Given the description of an element on the screen output the (x, y) to click on. 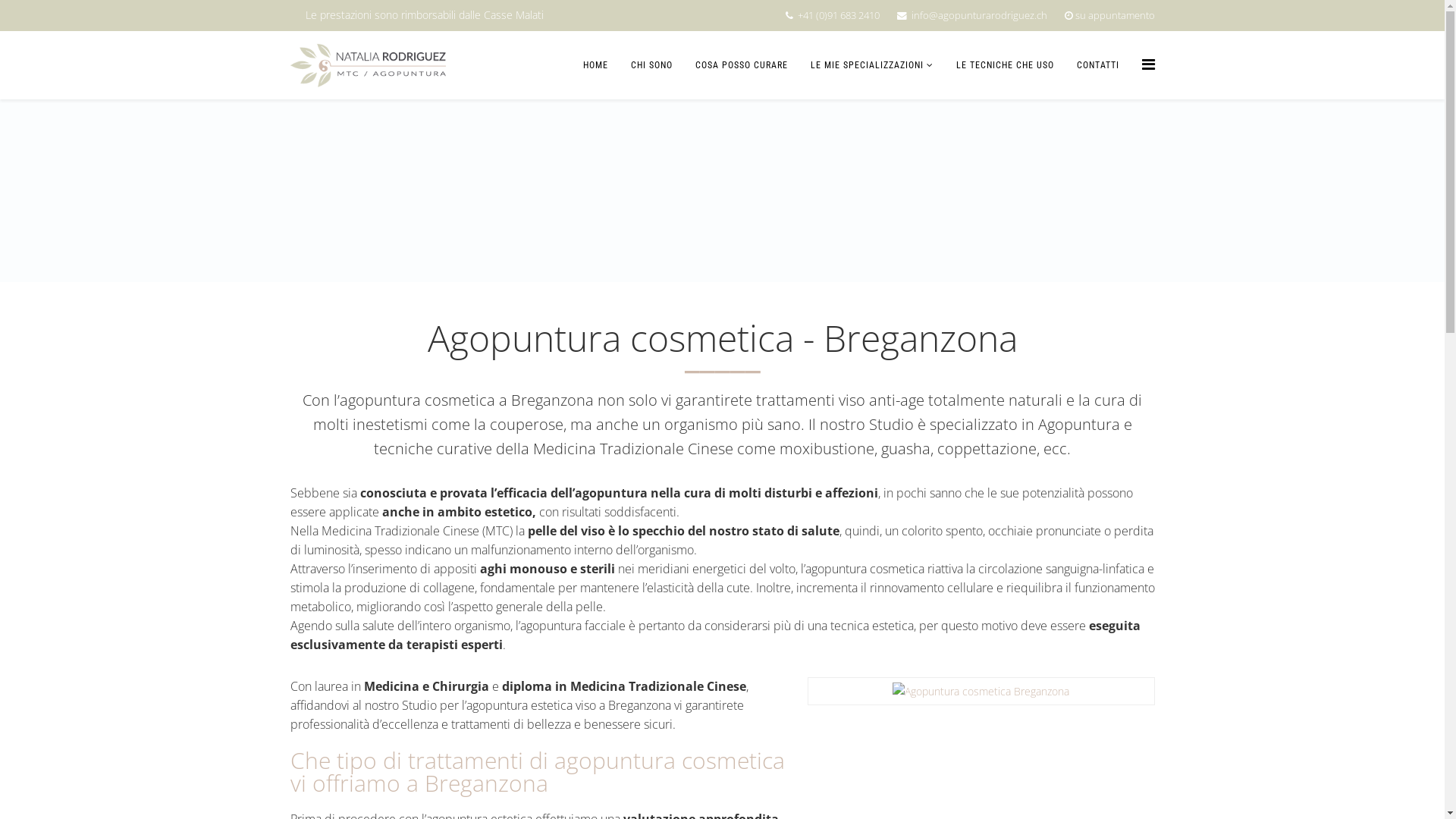
COSA POSSO CURARE Element type: text (741, 65)
CONTATTI Element type: text (1096, 65)
HOME Element type: text (595, 65)
LE TECNICHE CHE USO Element type: text (1004, 65)
info@agopunturarodriguez.ch Element type: text (979, 15)
CHI SONO Element type: text (650, 65)
+41 (0)91 683 2410 Element type: text (838, 15)
Helix Megamenu Options Element type: hover (1148, 64)
LE MIE SPECIALIZZAZIONI Element type: text (871, 65)
